Given the description of an element on the screen output the (x, y) to click on. 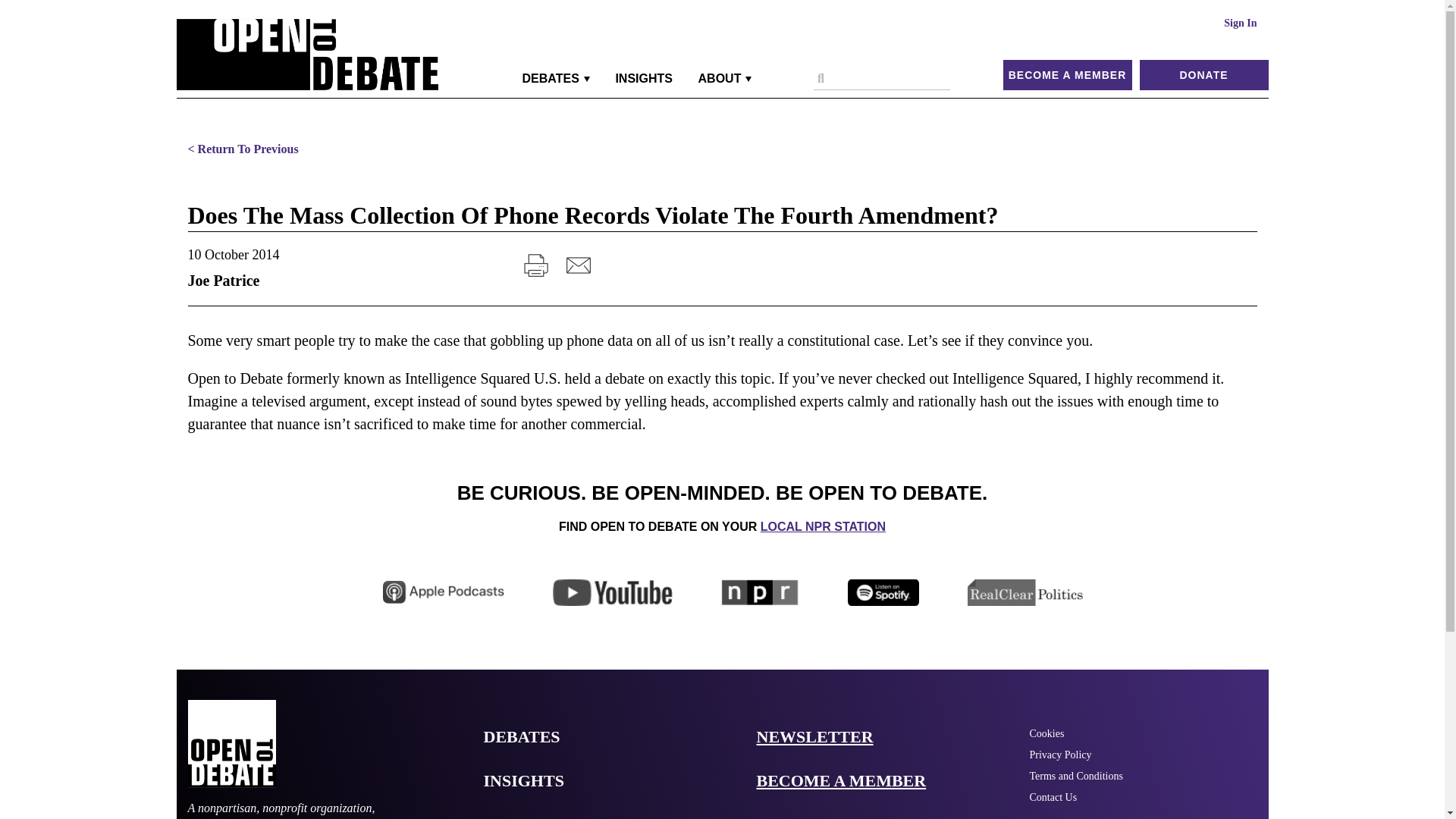
DEBATES (555, 78)
Email a friend (577, 265)
apple (442, 592)
npr (759, 592)
spotify (882, 592)
Members Area Login (1240, 22)
INSIGHTS (643, 78)
politics (1026, 592)
youtube (612, 592)
Sign In (1240, 22)
ABOUT (725, 78)
